Given the description of an element on the screen output the (x, y) to click on. 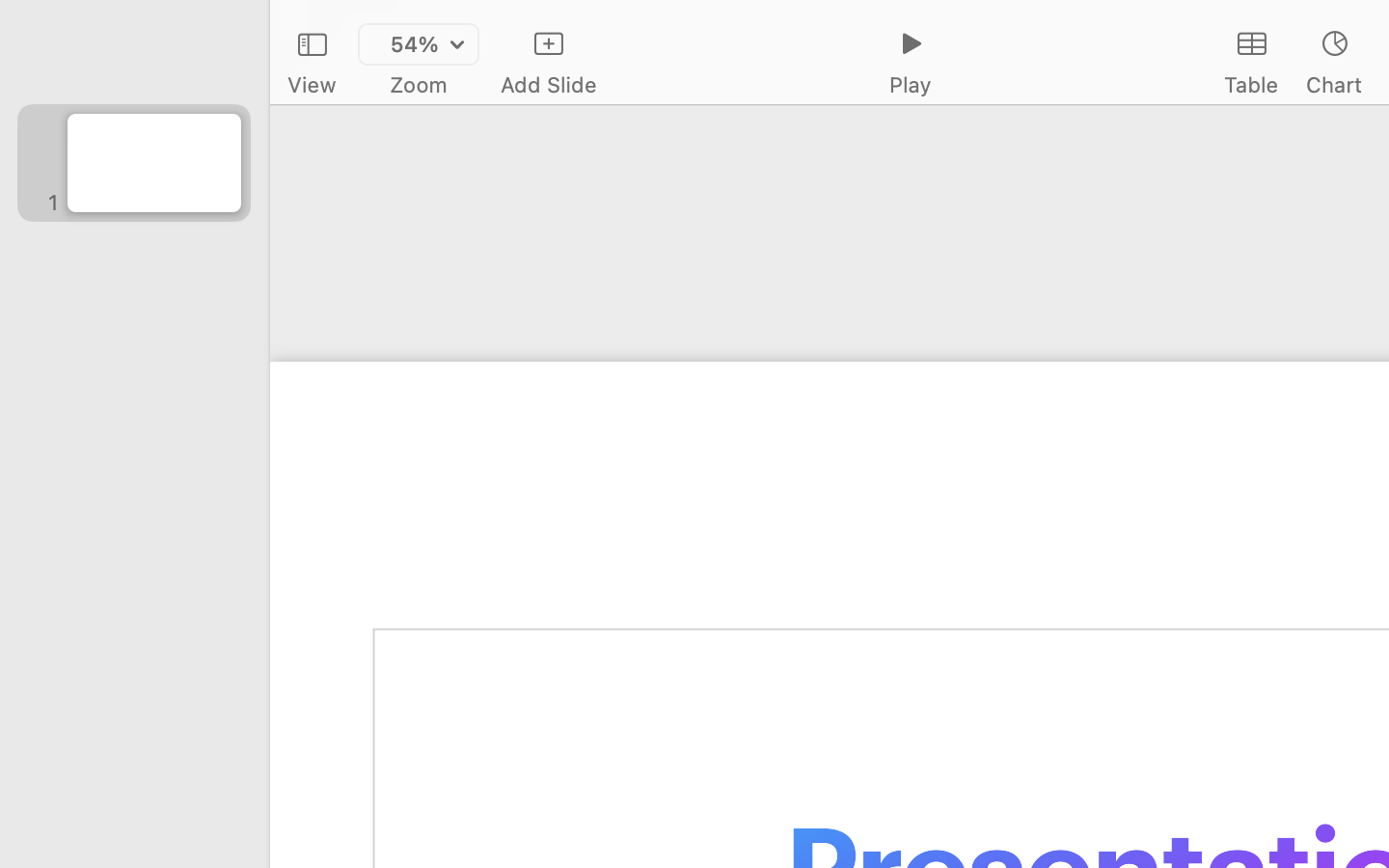
Zoom Element type: AXStaticText (418, 84)
View Element type: AXStaticText (311, 84)
